Given the description of an element on the screen output the (x, y) to click on. 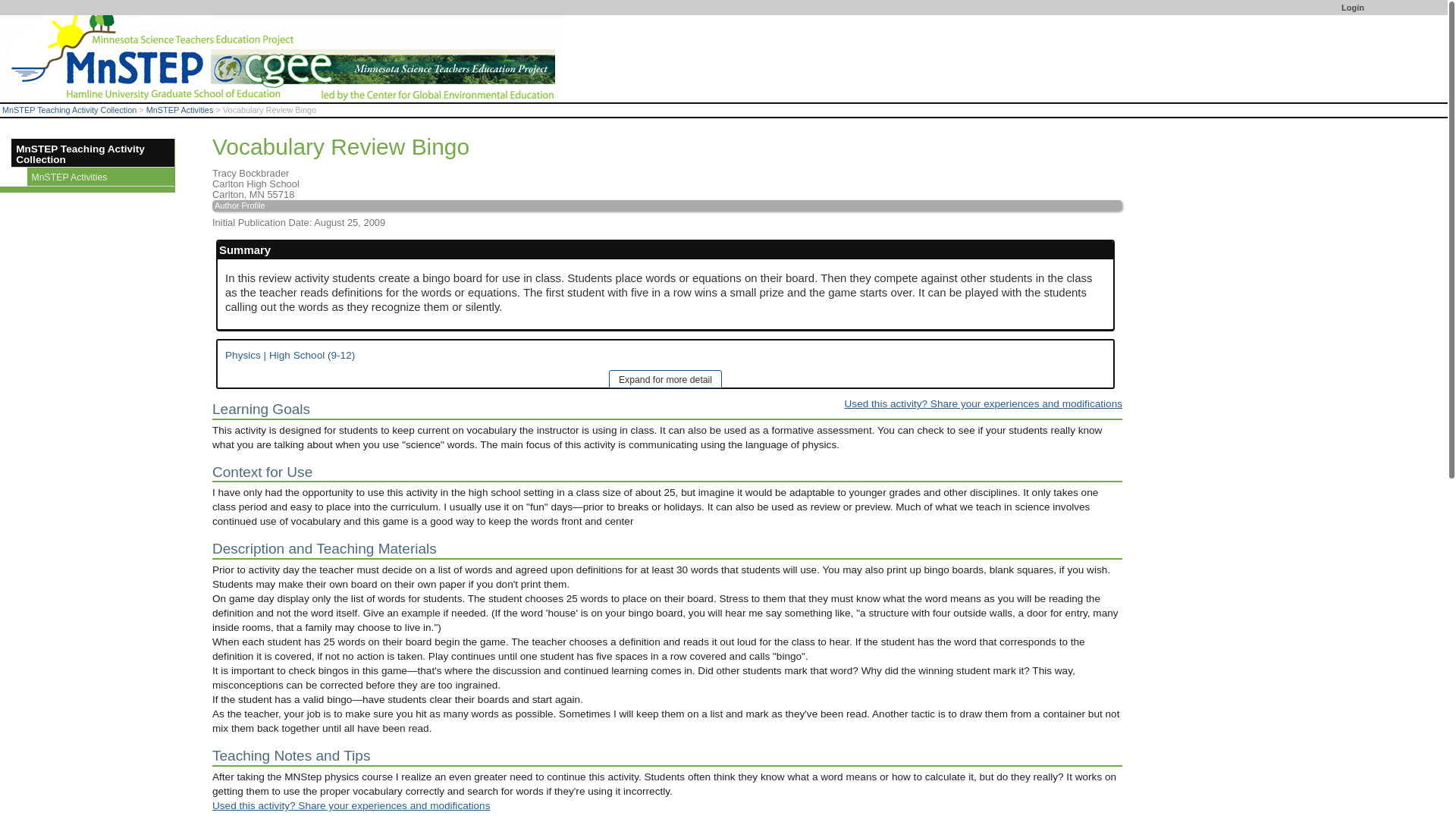
Author Profile (667, 204)
MnSTEP Teaching Activity Collection (69, 109)
MnSTEP Teaching Activity Collection (92, 152)
MnSTEP Activities (100, 176)
MnSTEP Activities (180, 109)
Used this activity? Share your experiences and modifications (983, 403)
Used this activity? Share your experiences and modifications (350, 805)
